Given the description of an element on the screen output the (x, y) to click on. 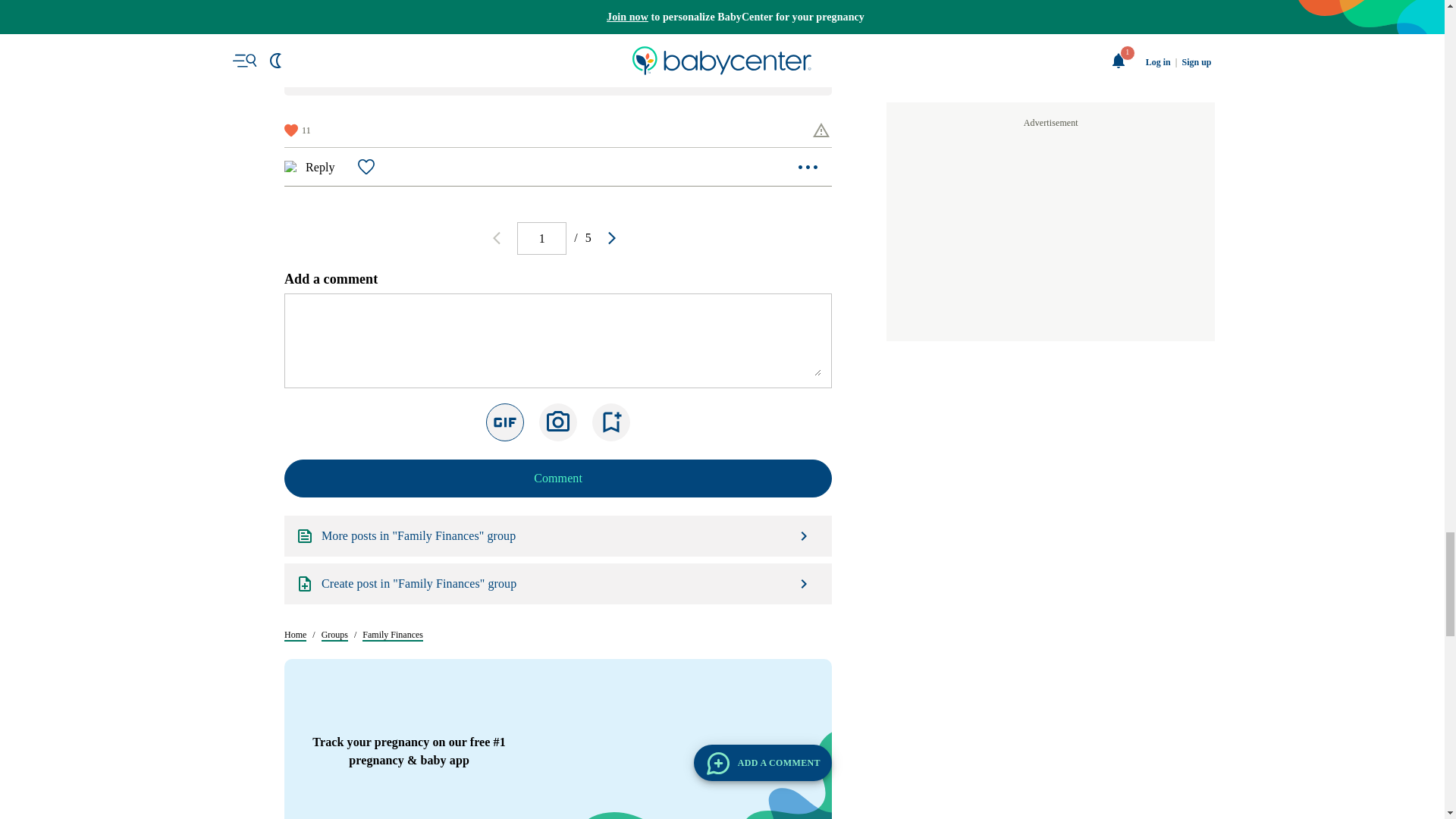
Go to page number (541, 726)
1 (541, 726)
